Given the description of an element on the screen output the (x, y) to click on. 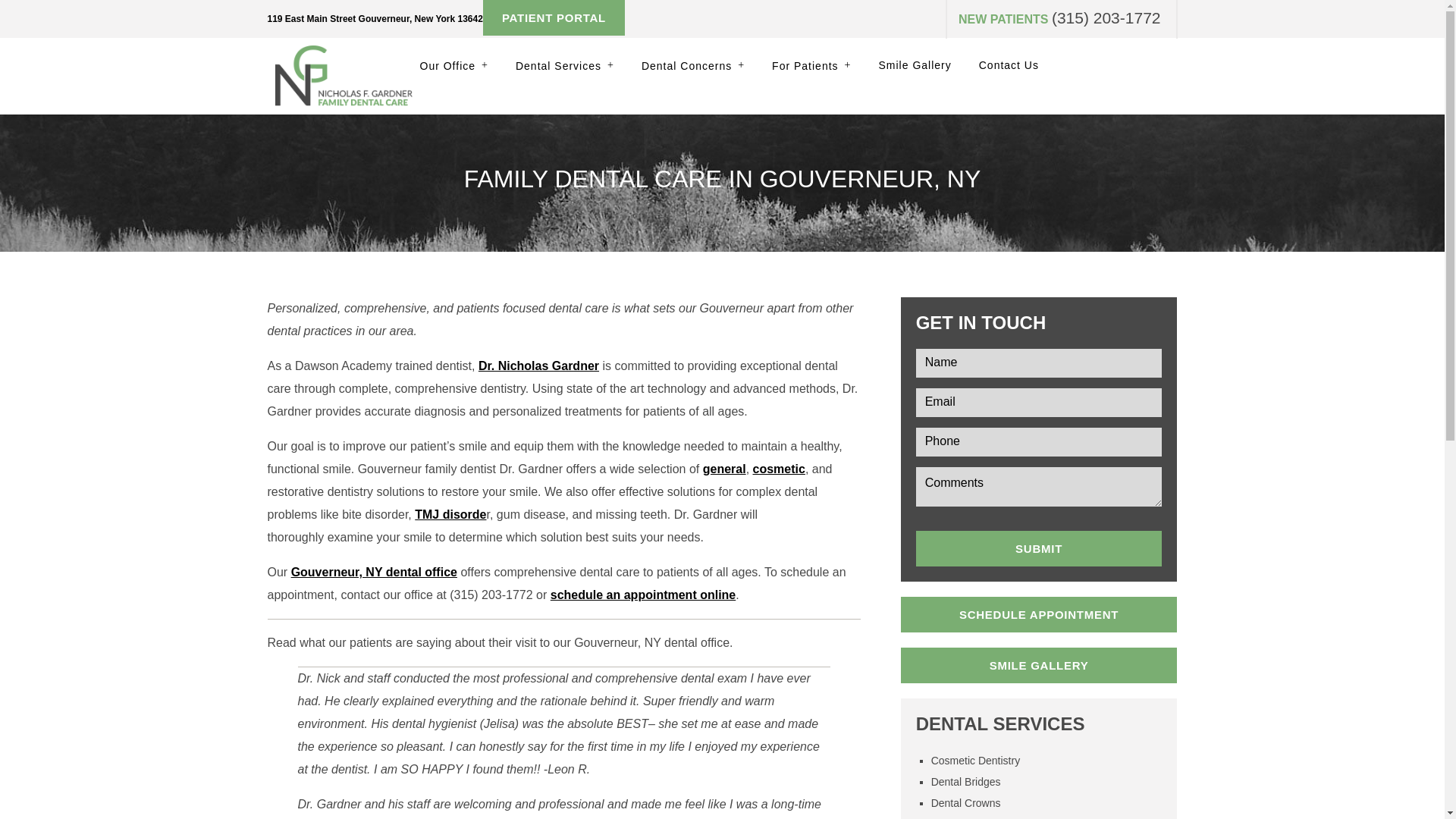
For Patients (810, 65)
Dental Concerns (693, 65)
PATIENT PORTAL (553, 18)
Dental Services (564, 65)
Our Office (453, 65)
